Given the description of an element on the screen output the (x, y) to click on. 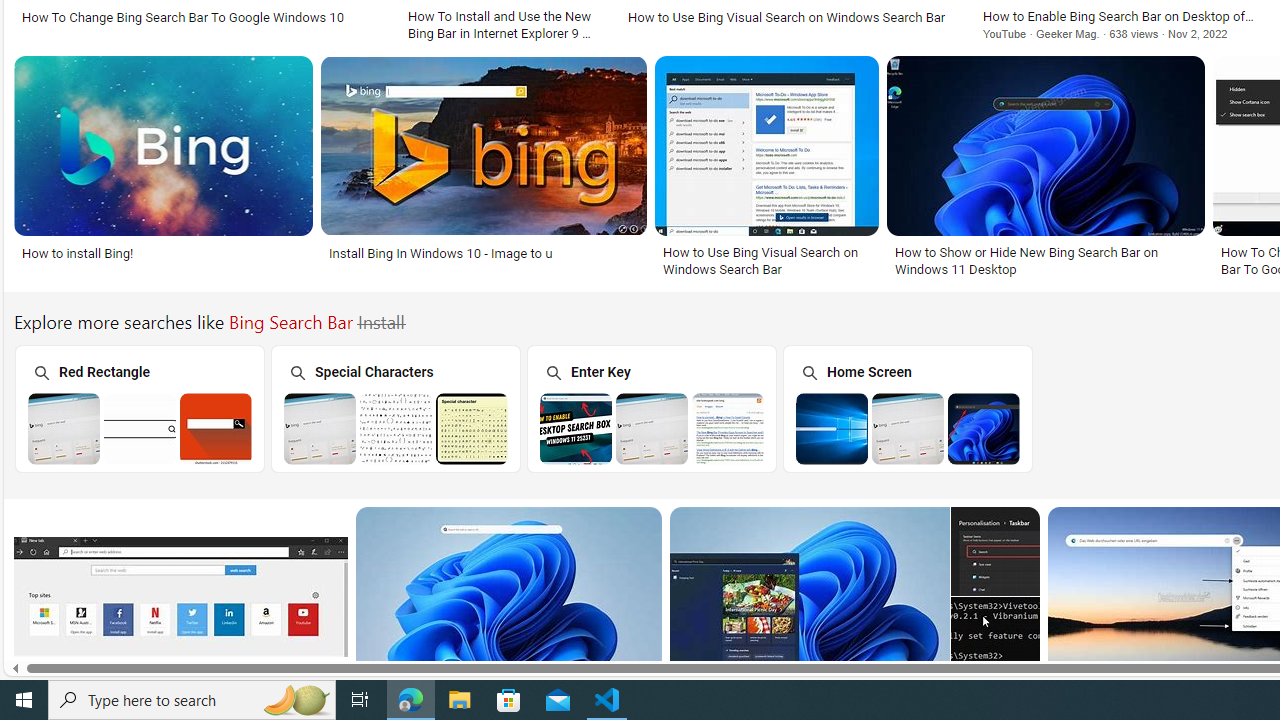
Bing Search Bar Enter Key (652, 428)
Bing Search Bar On Home Screen Home Screen (907, 408)
Red Rectangle Bing Search Bar (140, 428)
How To Change Bing Search Bar To Google Windows 10 (182, 16)
Home Screen (907, 407)
Bing Search Bar Special Characters Special Characters (395, 408)
Enter Key (651, 407)
Bing Search Bar Enter Key Enter Key (651, 408)
Install Bing In Windows 10 - Image to u (440, 253)
Image result for Bing Search Bar Install (508, 596)
